Given the description of an element on the screen output the (x, y) to click on. 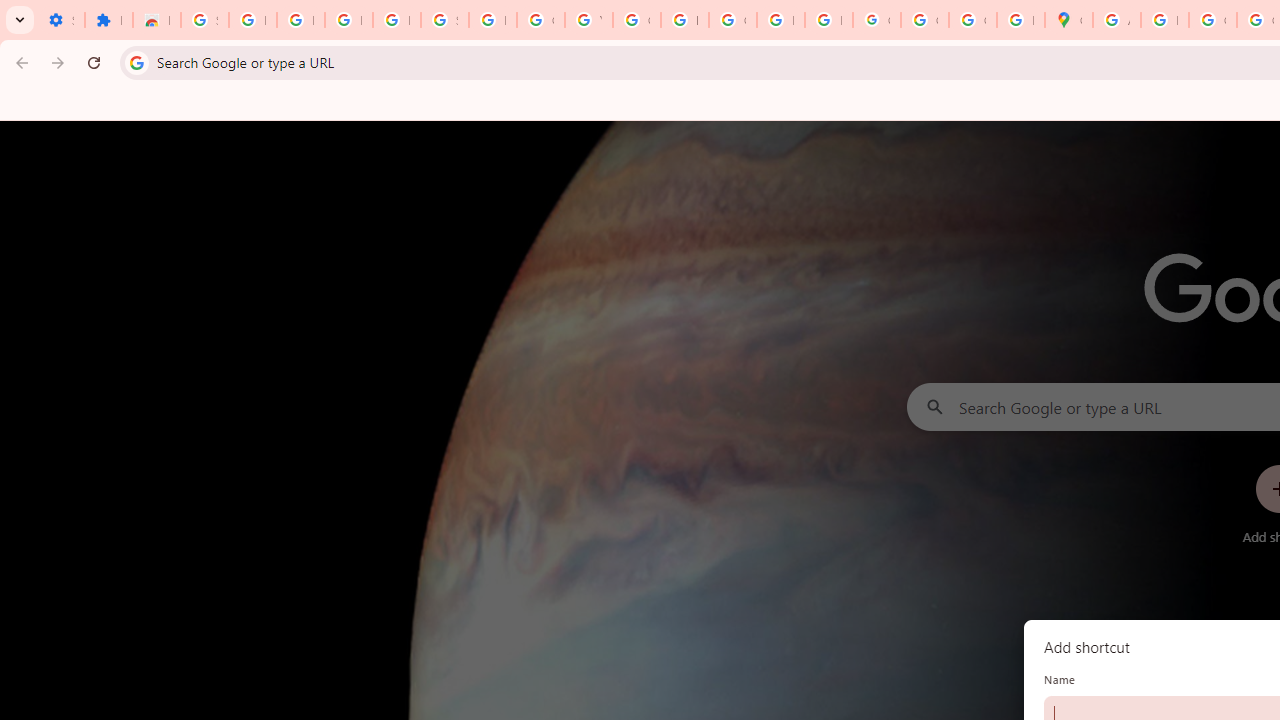
Google Maps (1068, 20)
Settings - On startup (60, 20)
Reviews: Helix Fruit Jump Arcade Game (156, 20)
Extensions (108, 20)
Sign in - Google Accounts (204, 20)
Sign in - Google Accounts (444, 20)
Learn how to find your photos - Google Photos Help (348, 20)
